Given the description of an element on the screen output the (x, y) to click on. 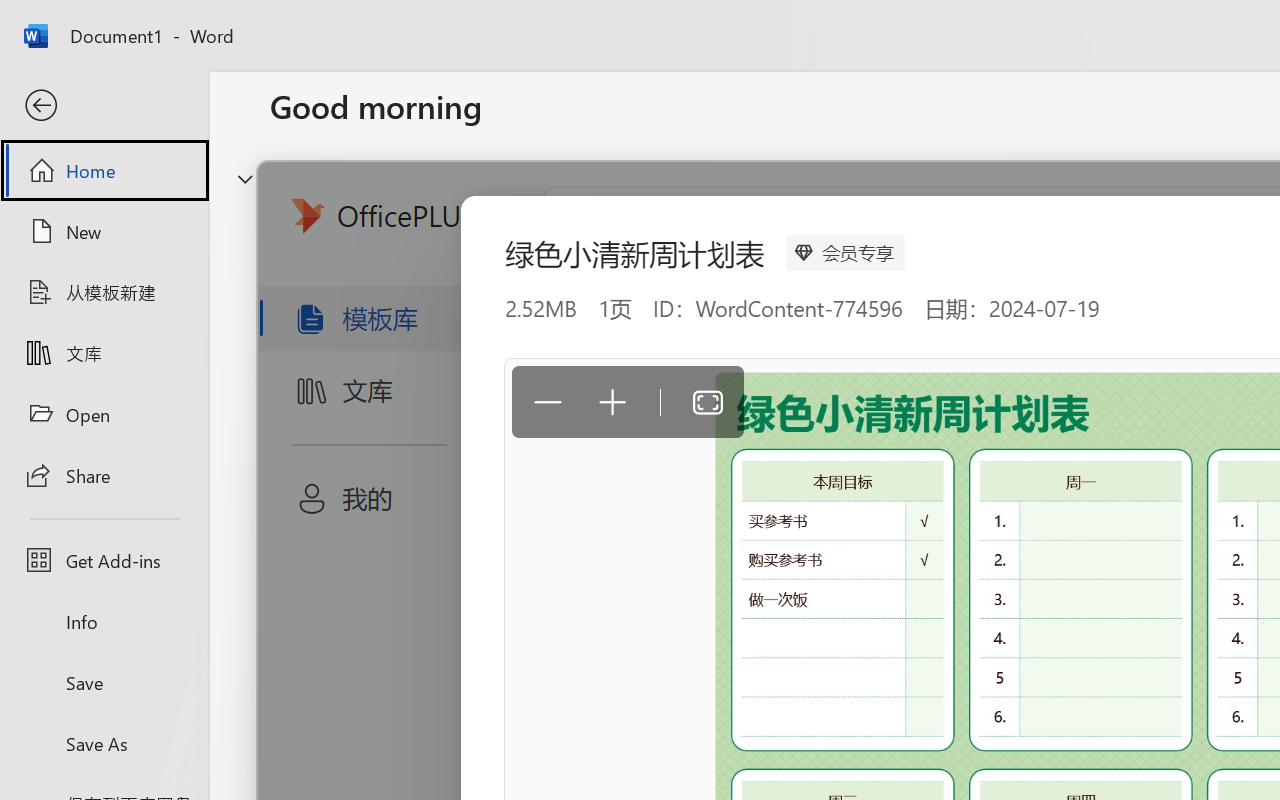
Hide or show region (245, 178)
Recent (316, 636)
Get Add-ins (104, 560)
Shared with Me (563, 636)
Blank document (405, 332)
New (104, 231)
Info (104, 621)
Save As (104, 743)
